Given the description of an element on the screen output the (x, y) to click on. 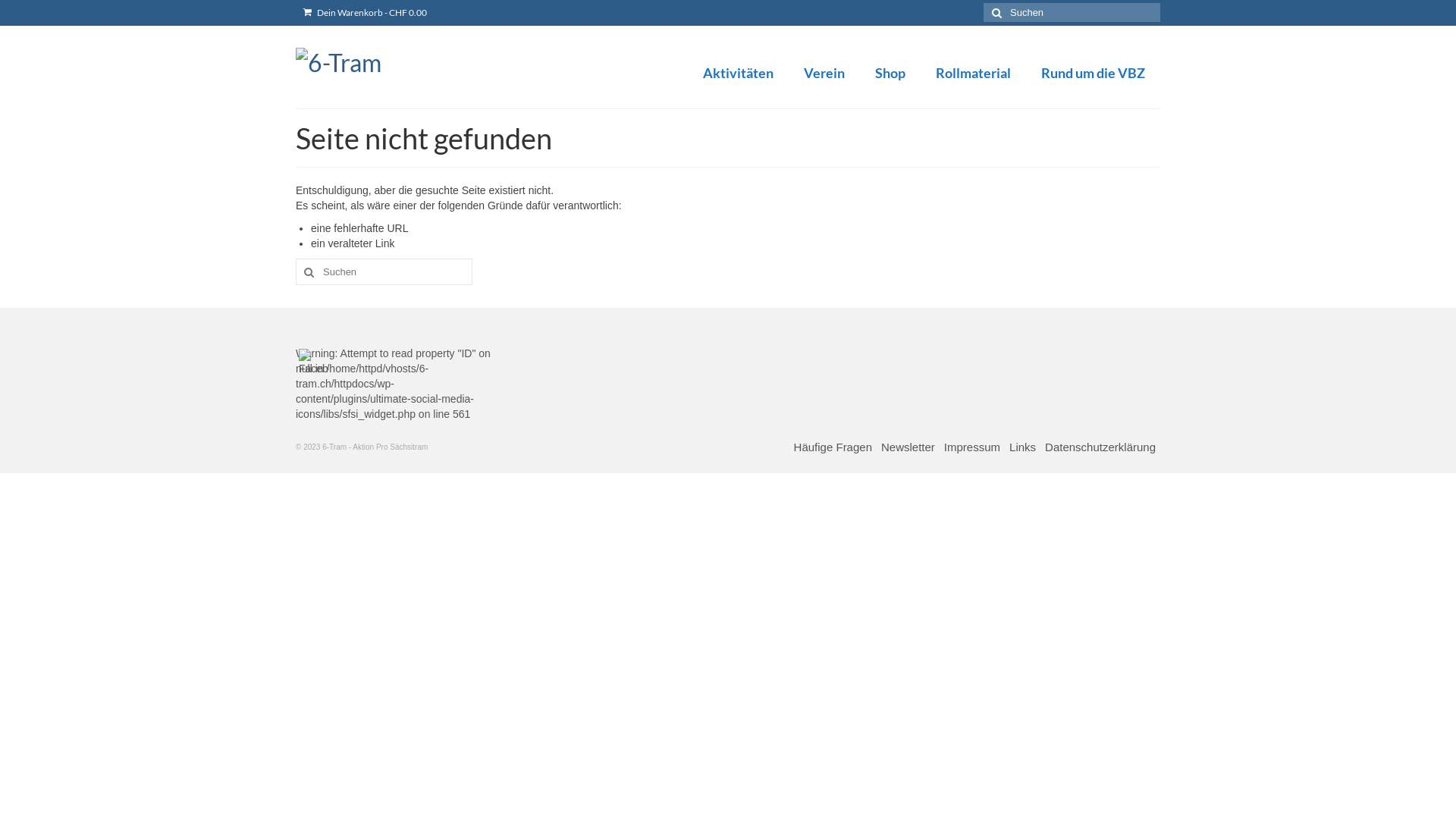
Dein Warenkorb - CHF 0.00 Element type: text (364, 12)
Facebook Element type: hover (313, 362)
Newsletter Element type: text (907, 447)
Verein Element type: text (823, 72)
Rund um die VBZ Element type: text (1093, 72)
Rollmaterial Element type: text (973, 72)
Impressum Element type: text (971, 447)
Links Element type: text (1022, 447)
Shop Element type: text (889, 72)
